Given the description of an element on the screen output the (x, y) to click on. 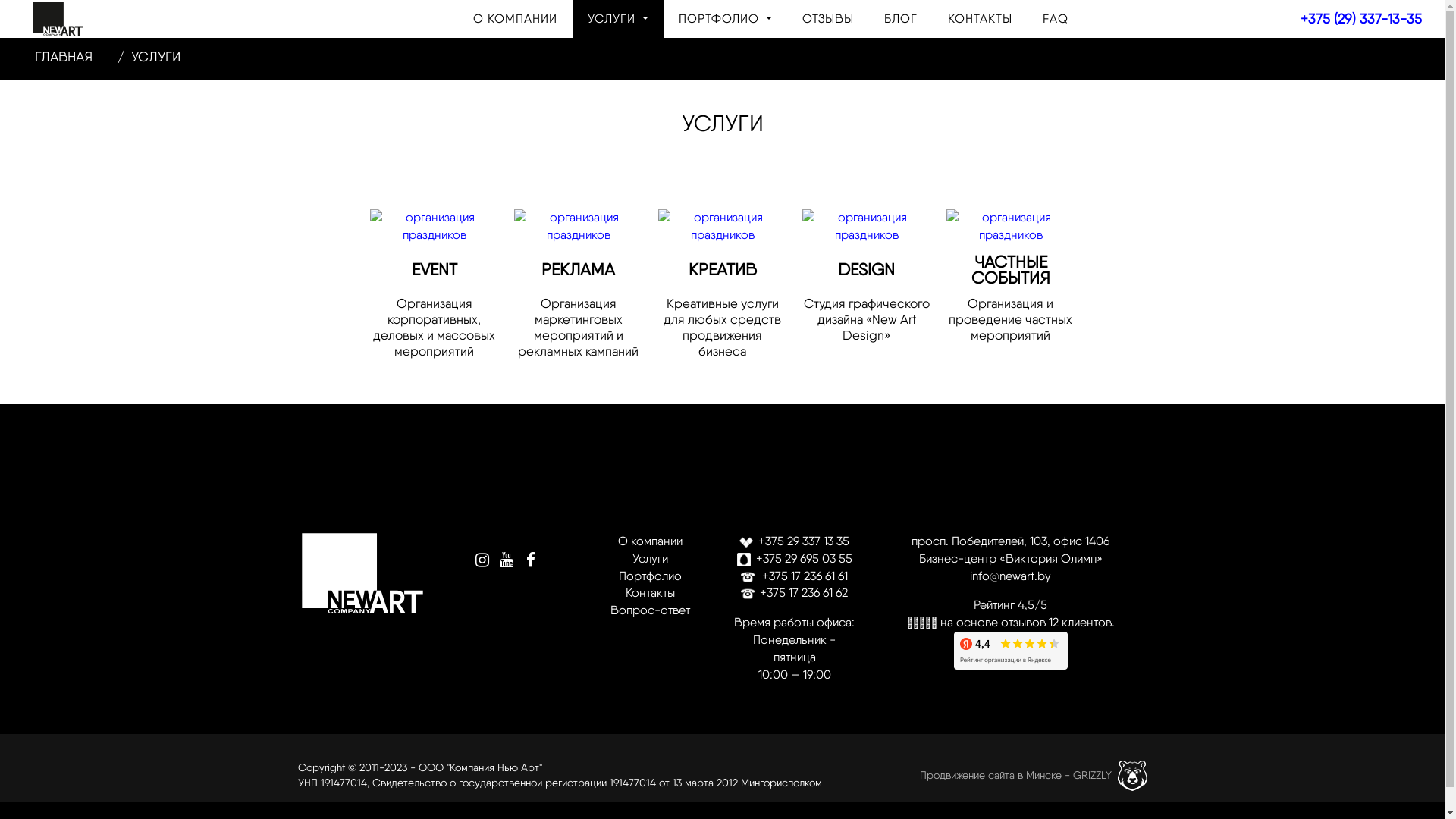
+375 (29) 337-13-35 Element type: text (1360, 18)
info@newart.by Element type: text (1010, 575)
+375 29 695 03 55 Element type: text (794, 558)
+375 29 337 13 35 Element type: text (794, 540)
+375 17 236 61 61 Element type: text (793, 575)
GRIZZLY DIGITAL COMPANY Element type: hover (1132, 775)
+375 17 236 61 62 Element type: text (793, 592)
FAQ Element type: text (1055, 18)
